Given the description of an element on the screen output the (x, y) to click on. 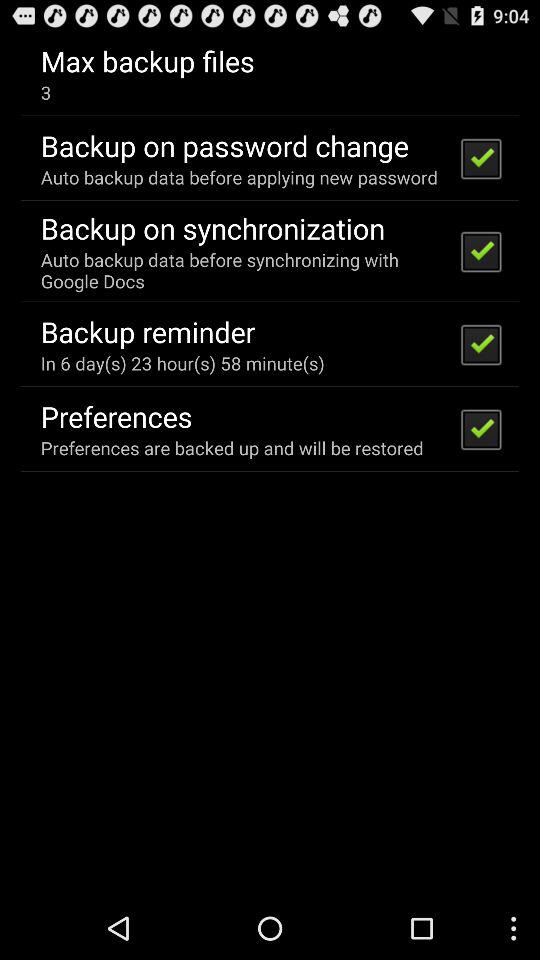
jump to max backup files icon (147, 60)
